Given the description of an element on the screen output the (x, y) to click on. 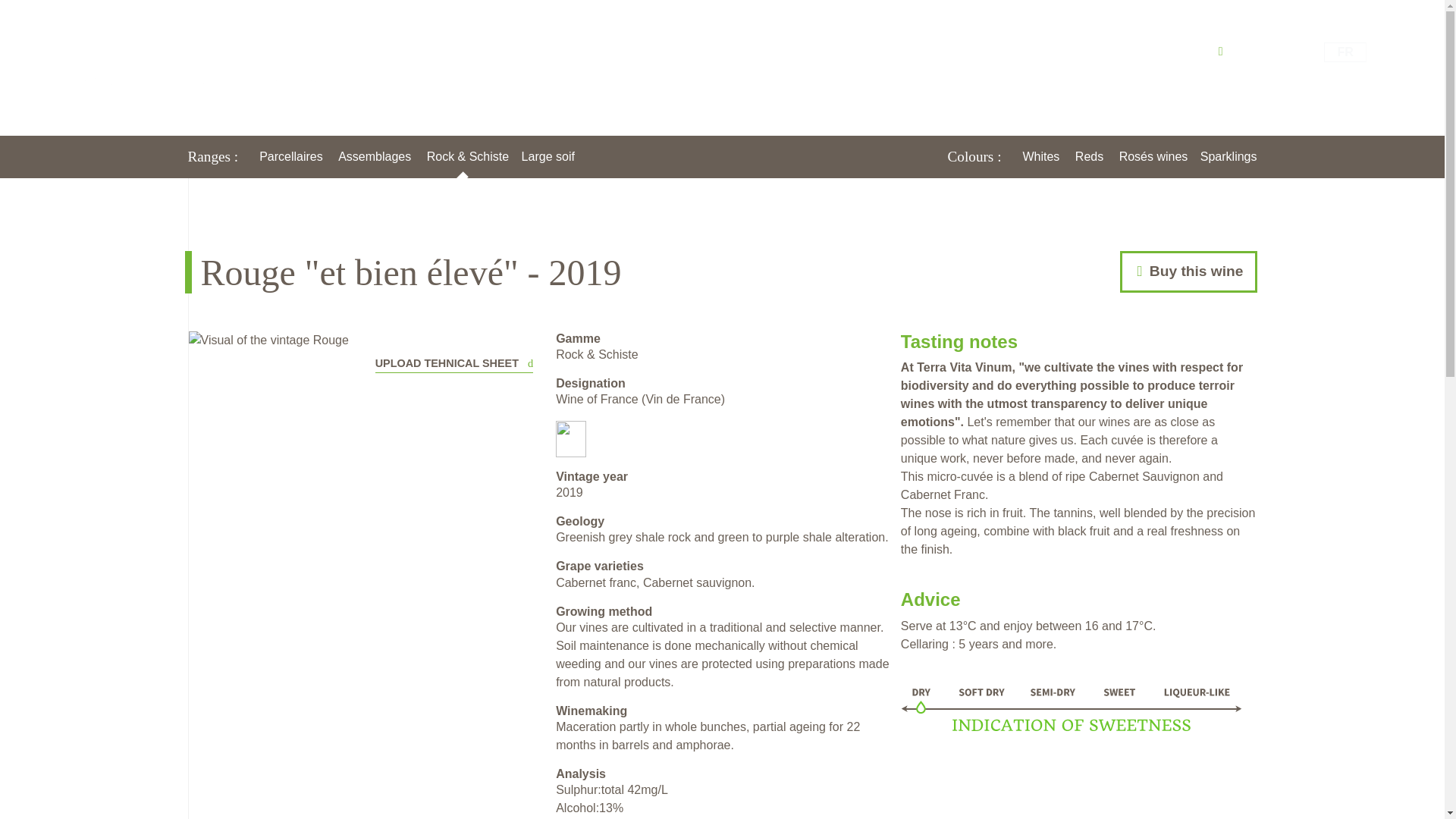
VITA (872, 51)
VINUM (930, 51)
UPLOAD TEHNICAL SHEET (453, 361)
TERRA (814, 51)
Sparklings (1228, 155)
Visual of the vintage Rouge  (267, 340)
Buy this wine (1187, 271)
NEWS (992, 51)
Level of sweetness is Dry (1071, 708)
Whites (1040, 155)
In pictures (1073, 51)
Large soif (548, 155)
Assemblages (373, 155)
CONTACT (1165, 51)
Reds (1089, 155)
